Given the description of an element on the screen output the (x, y) to click on. 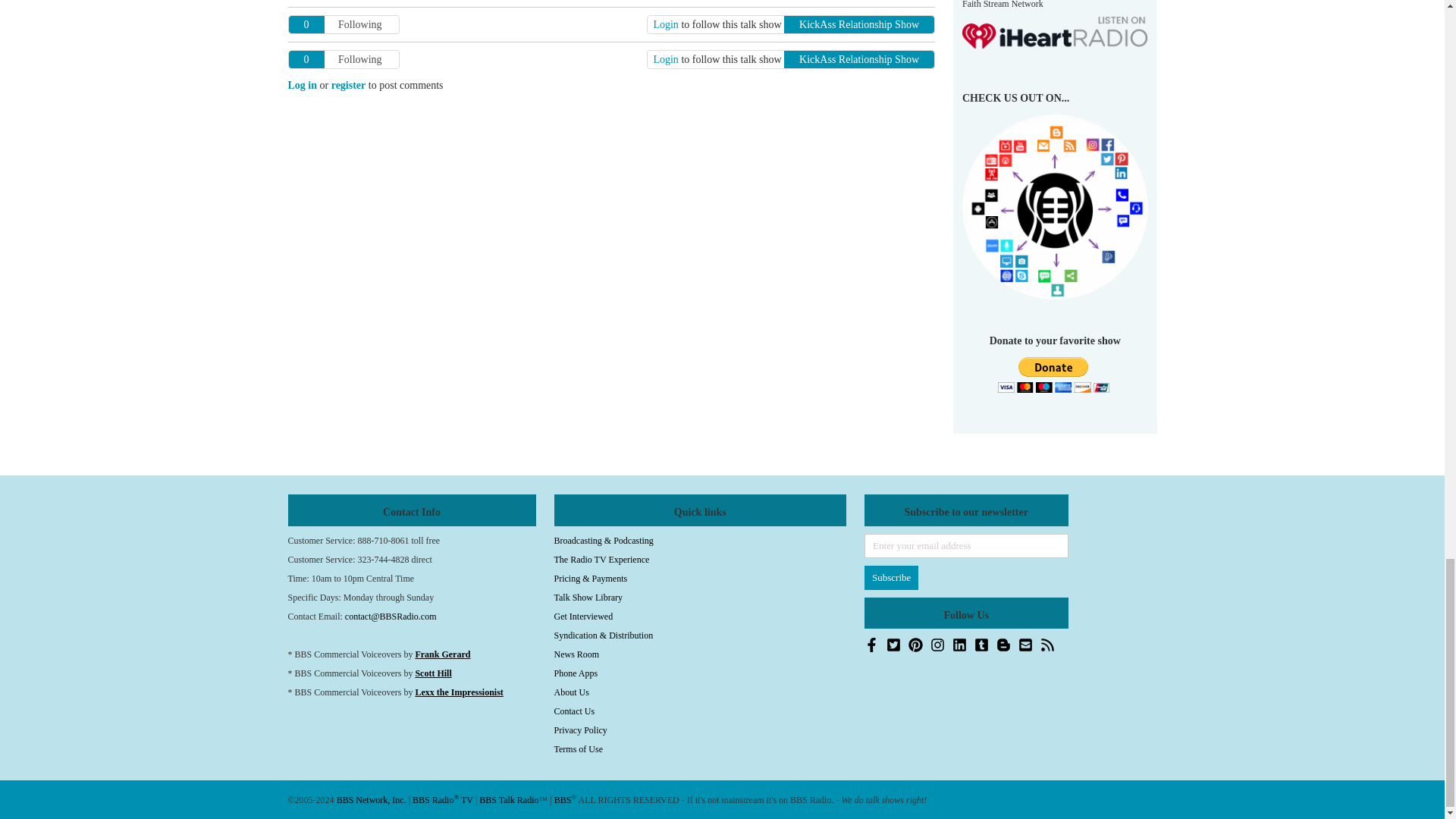
Subscribe (891, 577)
